Given the description of an element on the screen output the (x, y) to click on. 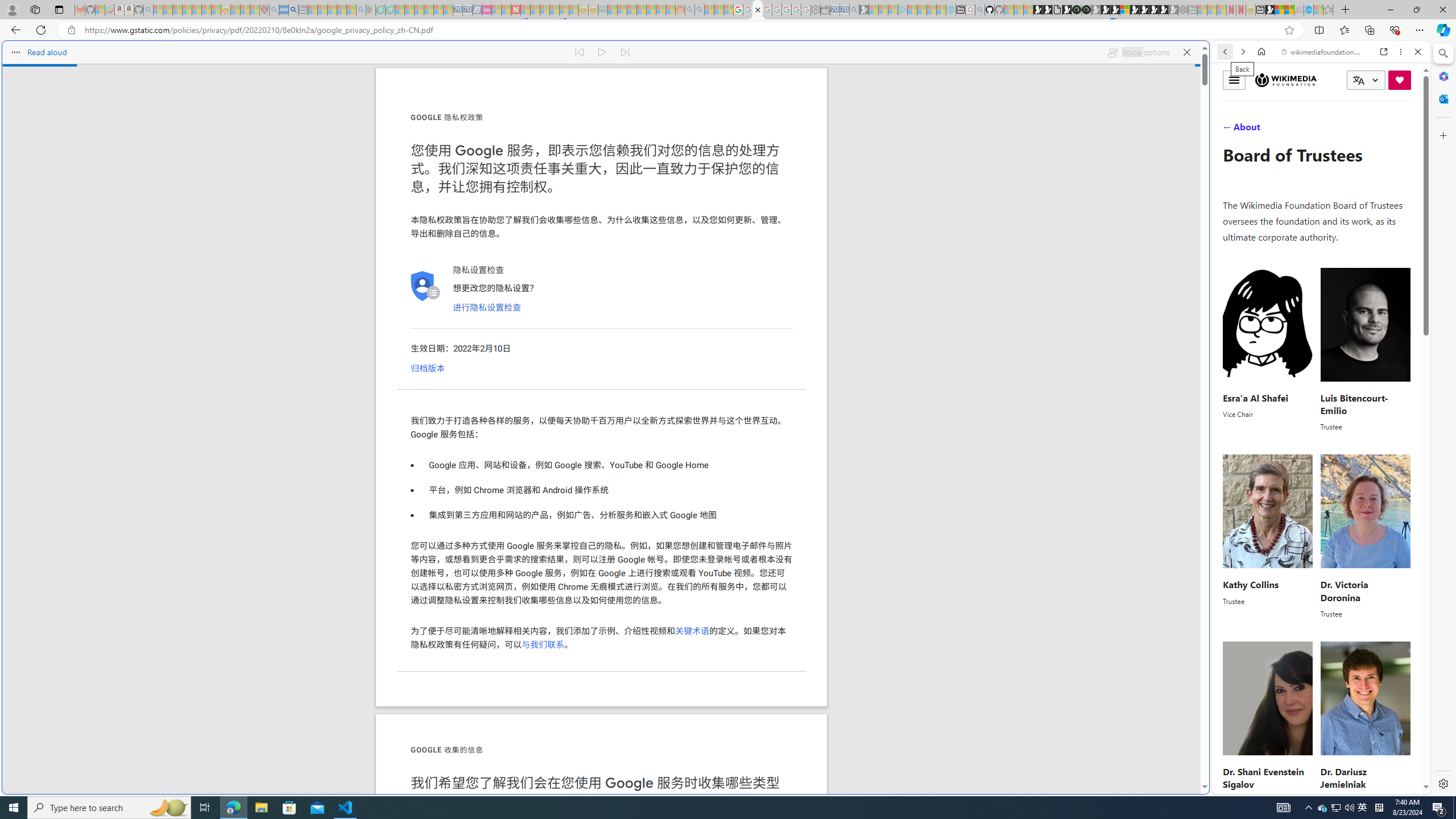
Donate now (1399, 80)
Frequently visited (965, 151)
